Given the description of an element on the screen output the (x, y) to click on. 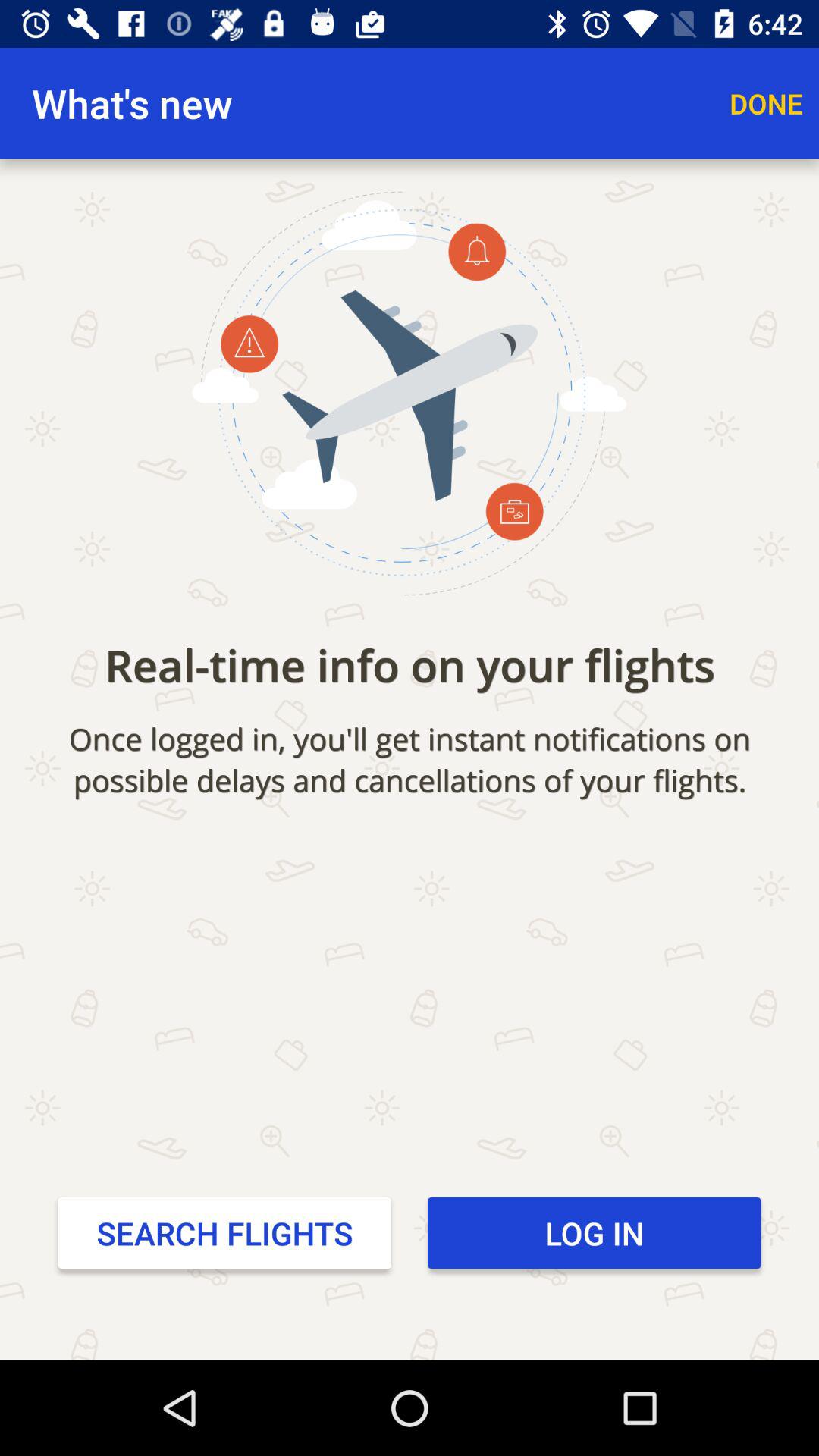
turn off icon at the bottom right corner (593, 1232)
